Given the description of an element on the screen output the (x, y) to click on. 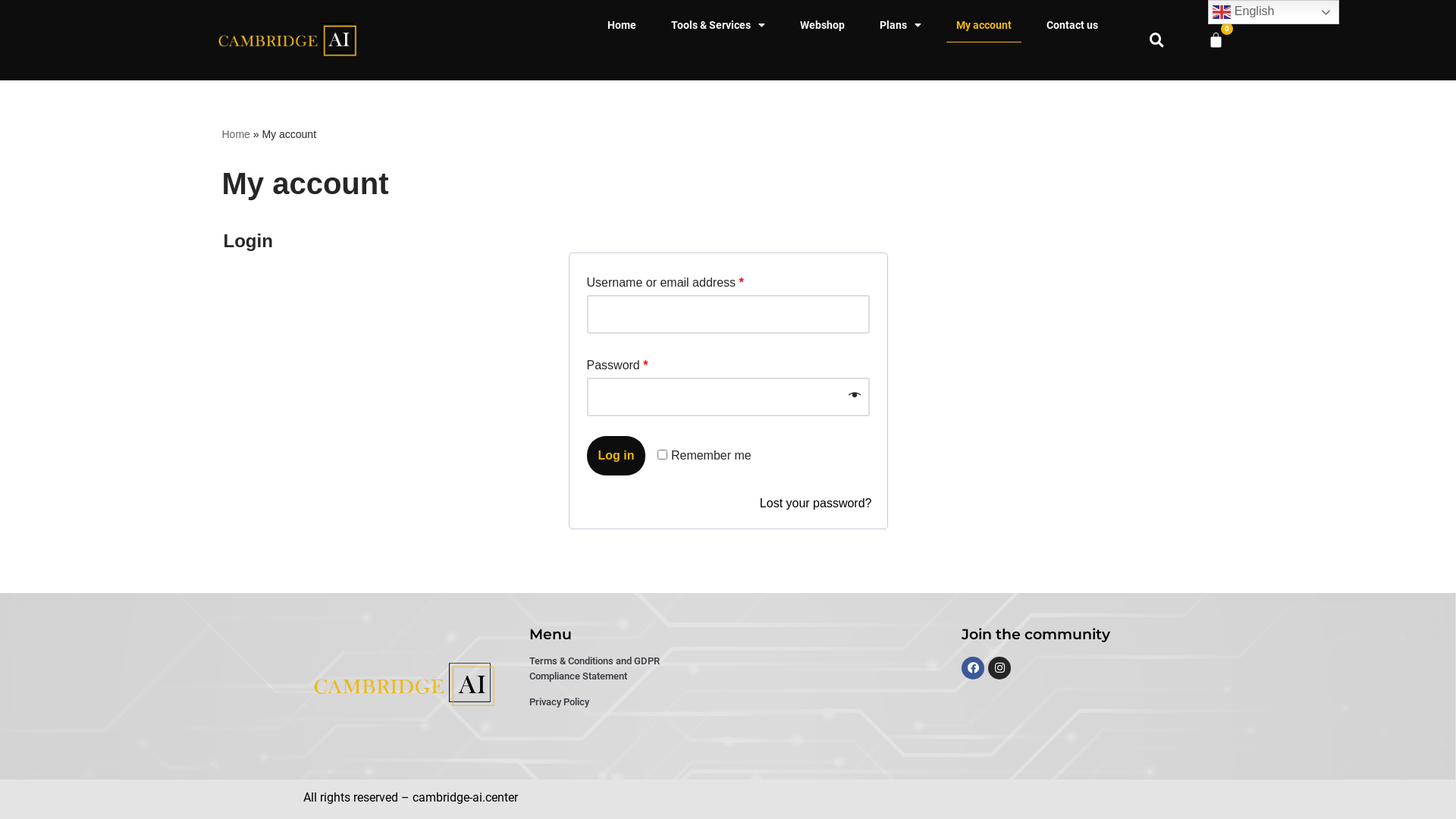
Privacy Policy Element type: text (559, 702)
Webshop Element type: text (822, 24)
Log in Element type: text (616, 455)
My account Element type: text (983, 24)
Plans Element type: text (900, 24)
English Element type: text (1273, 12)
Contact us Element type: text (1071, 24)
Terms & Conditions and GDPR Compliance Statement Element type: text (612, 668)
Home Element type: text (621, 24)
Tools & Services Element type: text (718, 24)
Home Element type: text (235, 134)
Skip to content Element type: text (11, 31)
0 Element type: text (1215, 39)
Lost your password? Element type: text (815, 502)
